Given the description of an element on the screen output the (x, y) to click on. 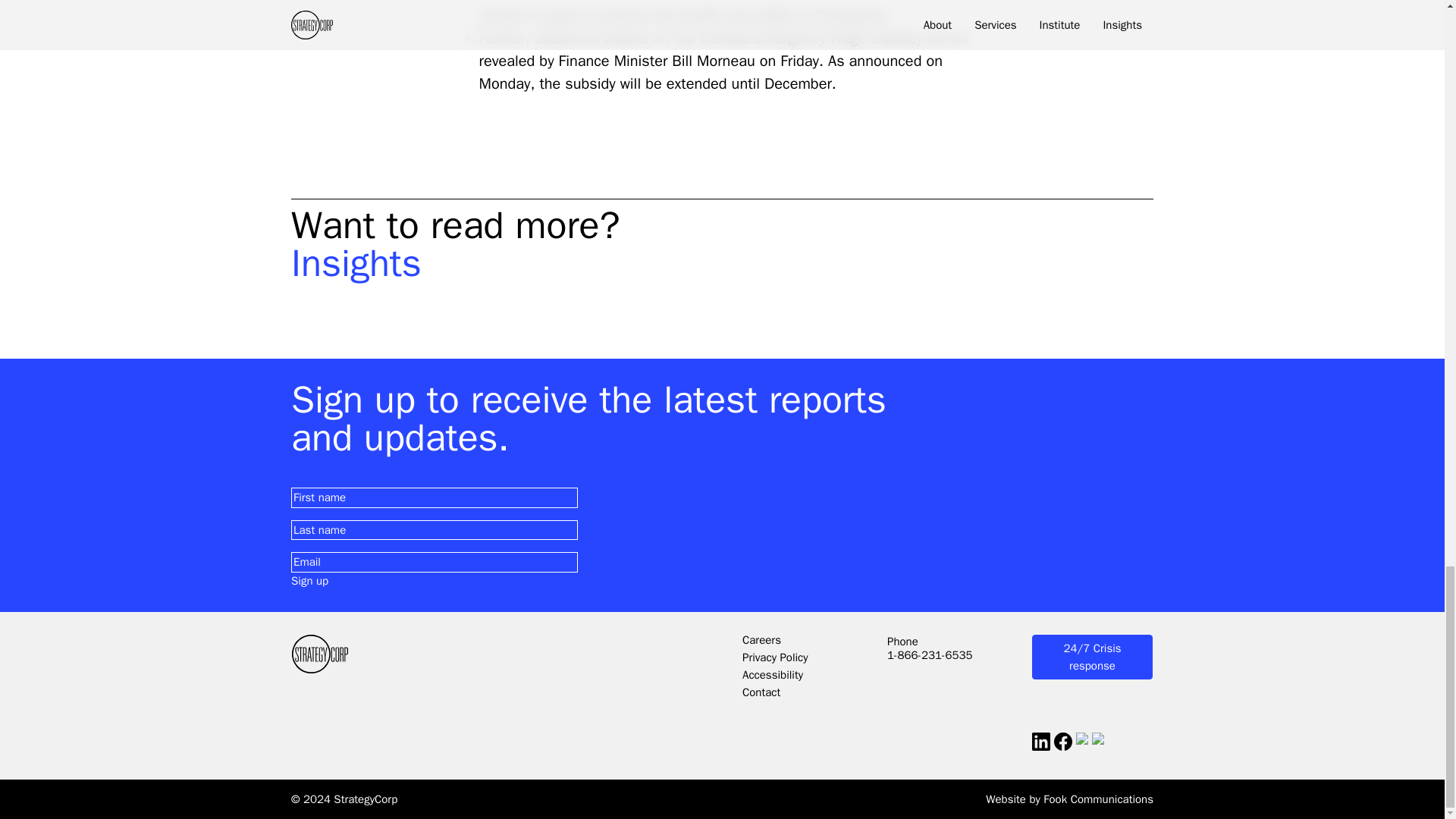
Contact (761, 692)
Privacy Policy (775, 657)
Sign up (310, 580)
Accessibility (772, 674)
Sign up (310, 580)
Insights (722, 263)
1-866-231-6535 (929, 654)
Careers (761, 640)
